Given the description of an element on the screen output the (x, y) to click on. 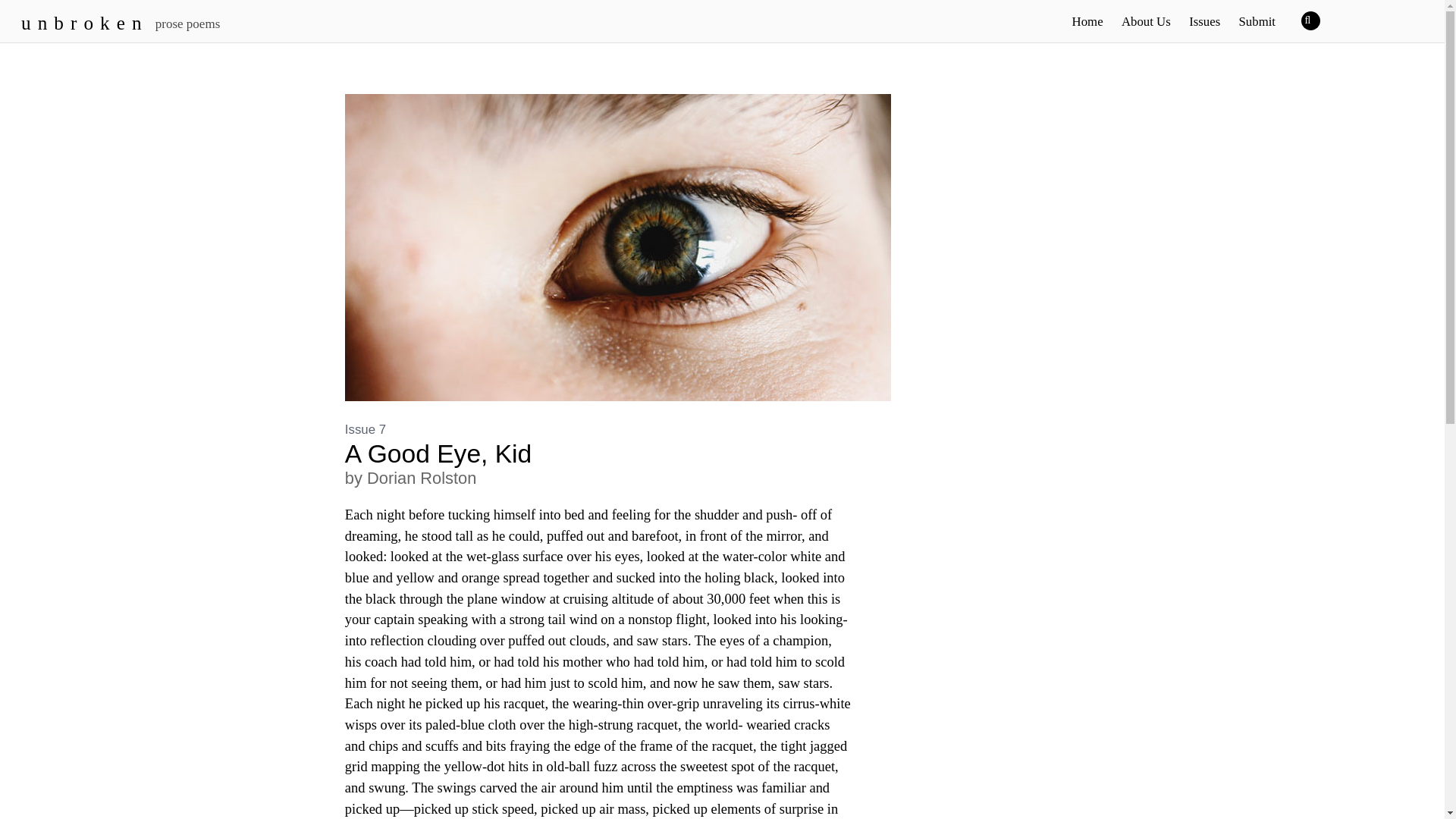
Issues (1203, 21)
Search (1318, 20)
About Us (1145, 21)
Submit (1256, 21)
Home (1087, 21)
Issue 7 (365, 429)
u n b r o k e n (81, 23)
U n b r o k e n (81, 23)
